Given the description of an element on the screen output the (x, y) to click on. 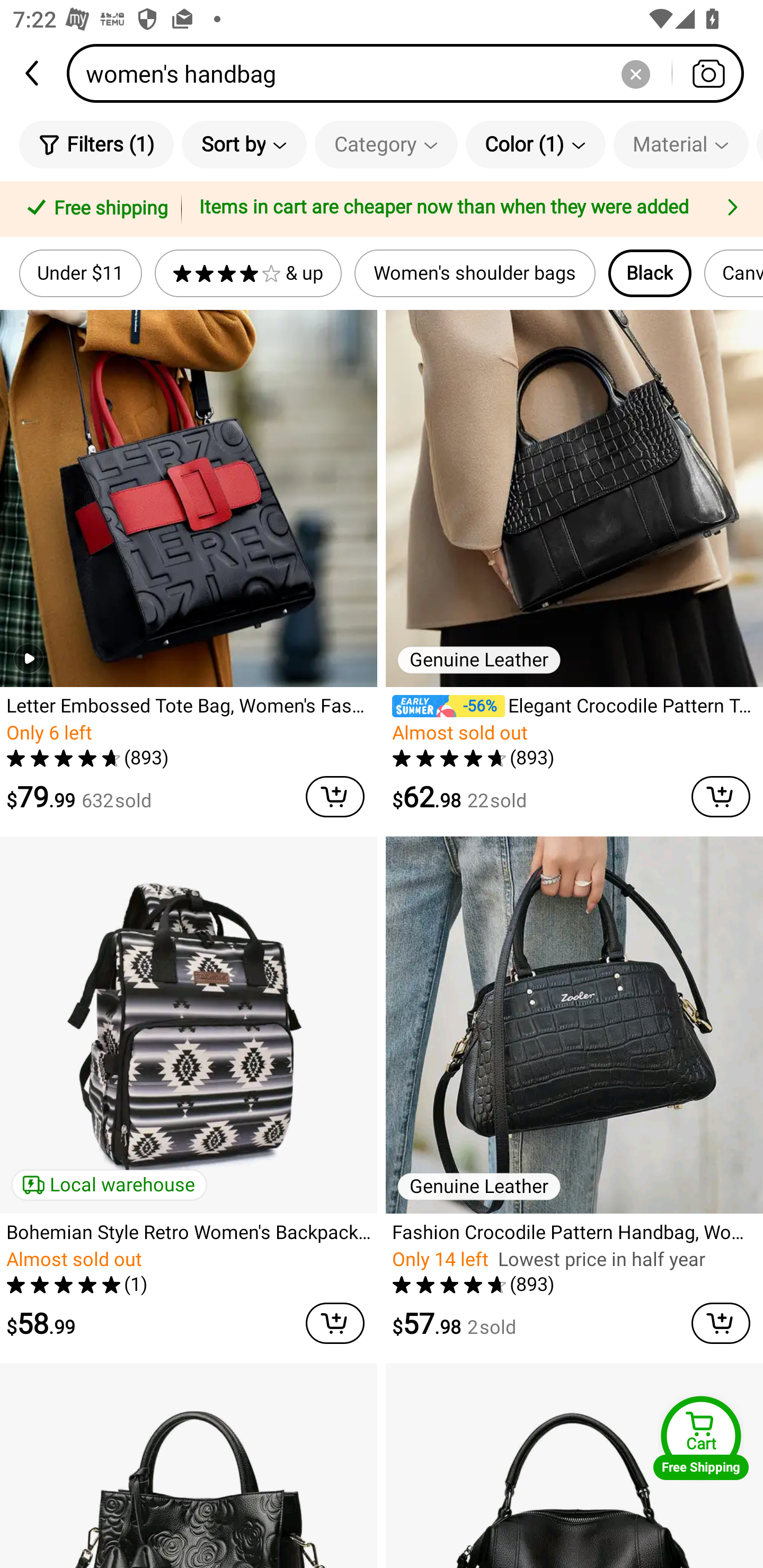
back (33, 72)
women's handbag (411, 73)
Delete search history (635, 73)
Search by photo (708, 73)
Filters (1) (96, 143)
Sort by (243, 143)
Category (385, 143)
Color (1) (535, 143)
Material (680, 143)
 Free shipping (93, 208)
Under $11 (80, 273)
& up (247, 273)
Women's shoulder bags (474, 273)
Black (649, 273)
Canvas (733, 273)
Cart Free Shipping Cart (701, 1437)
